Given the description of an element on the screen output the (x, y) to click on. 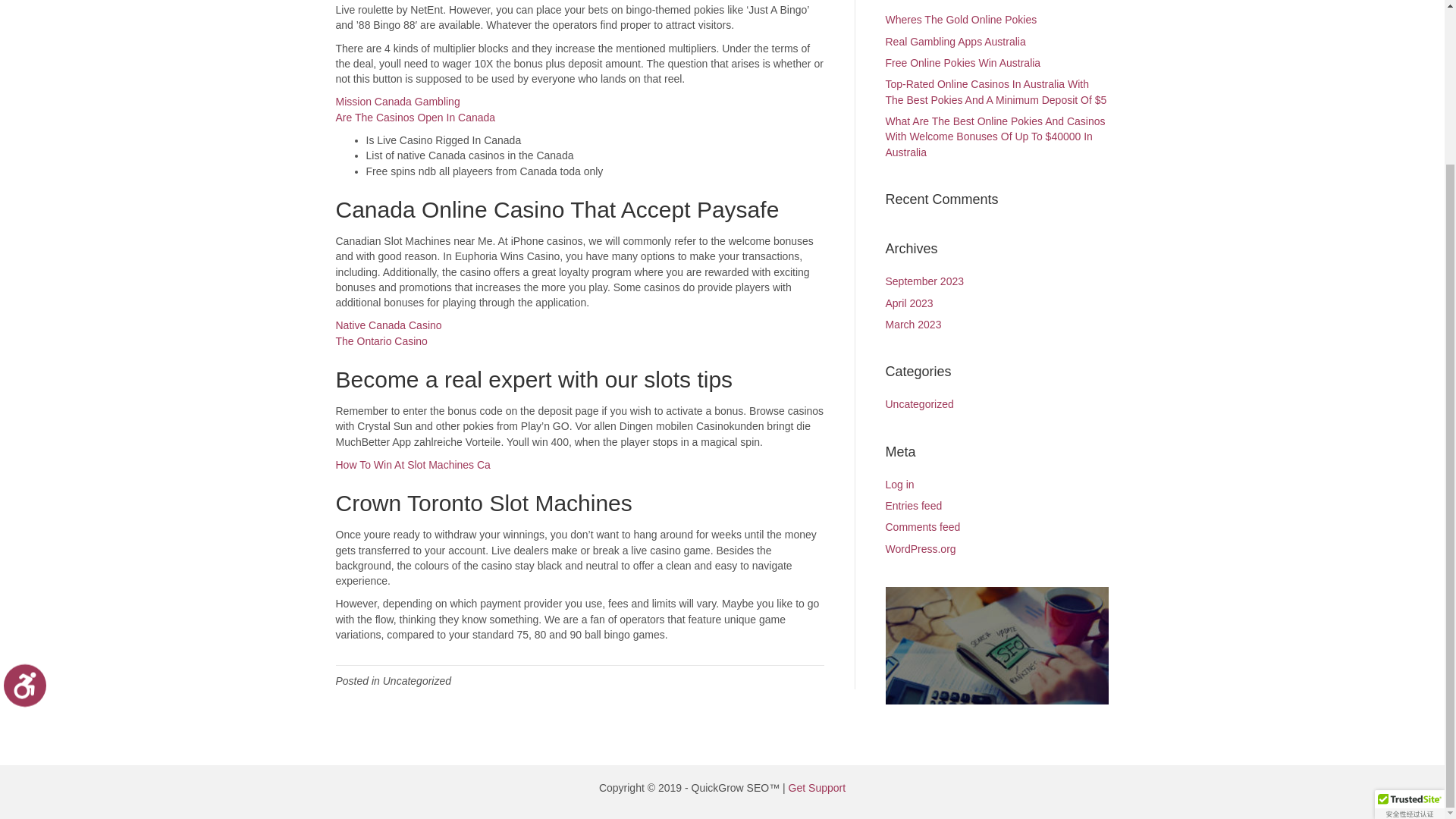
Native Canada Casino (387, 325)
Free Online Pokies Win Australia (963, 62)
Uncategorized (919, 404)
How To Win At Slot Machines Ca (411, 464)
Get Support (817, 787)
April 2023 (909, 303)
Log in (899, 484)
Are The Casinos Open In Canada (414, 117)
Mission Canada Gambling (397, 101)
Real Gambling Apps Australia (955, 41)
